Given the description of an element on the screen output the (x, y) to click on. 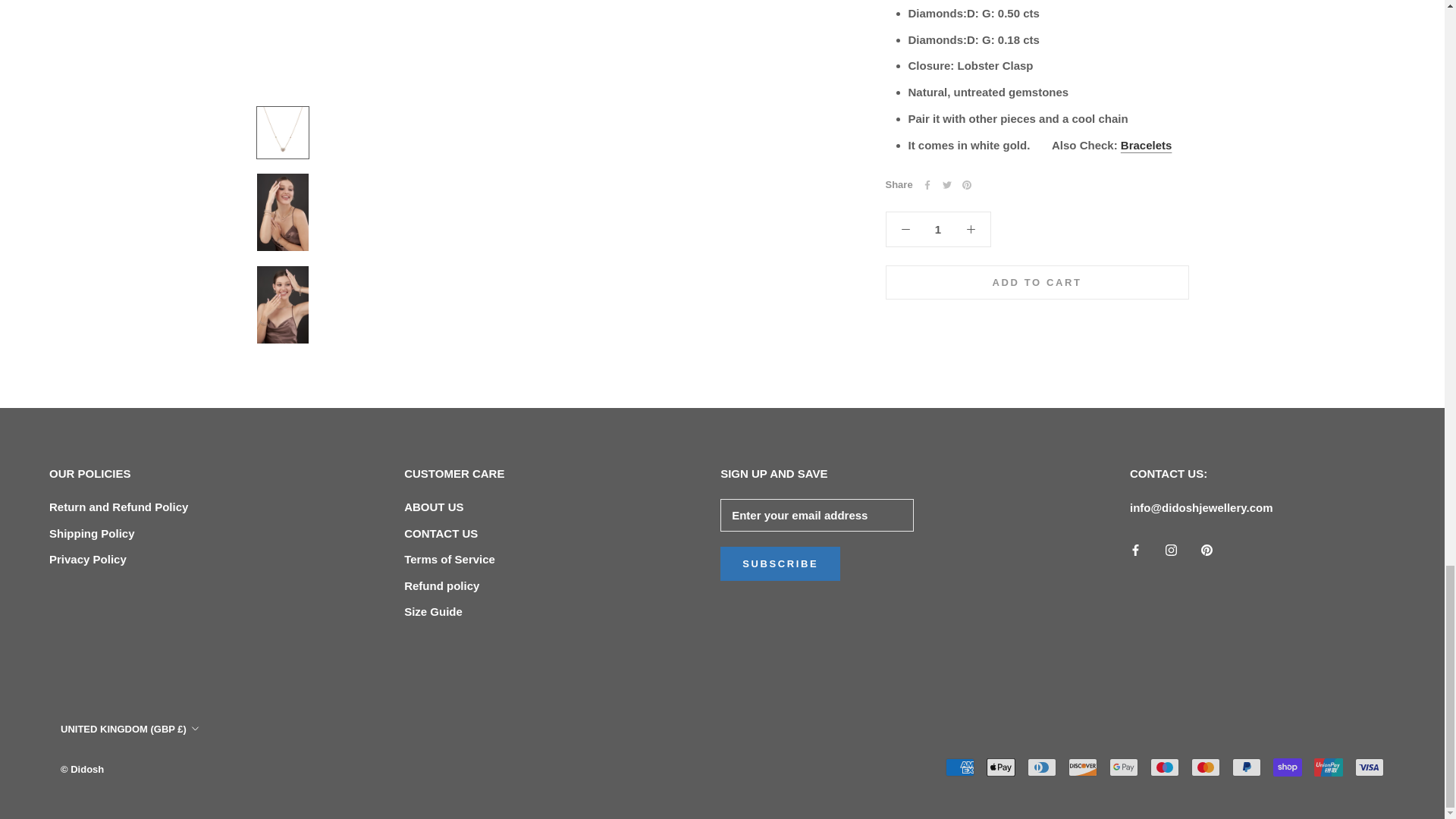
Google Pay (1123, 767)
Mastercard (1205, 767)
PayPal (1245, 767)
Discover (1082, 767)
Diners Club (1042, 767)
American Express (959, 767)
Maestro (1164, 767)
Apple Pay (1000, 767)
